Given the description of an element on the screen output the (x, y) to click on. 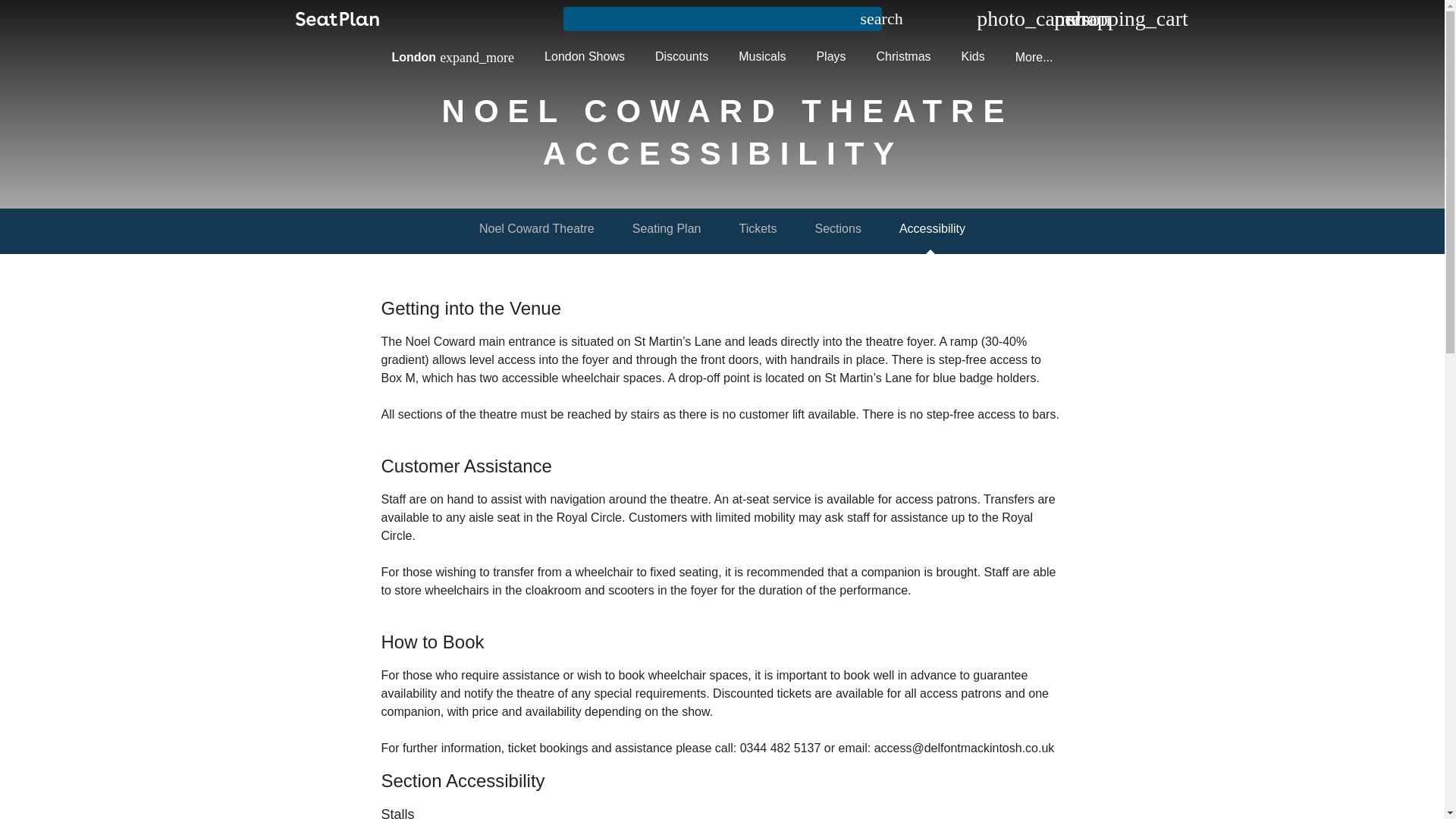
Plays (830, 56)
More... (1034, 56)
Kids (973, 56)
Discounts (681, 56)
Christmas (903, 56)
Musicals (761, 56)
London Shows (584, 56)
London (452, 56)
